Given the description of an element on the screen output the (x, y) to click on. 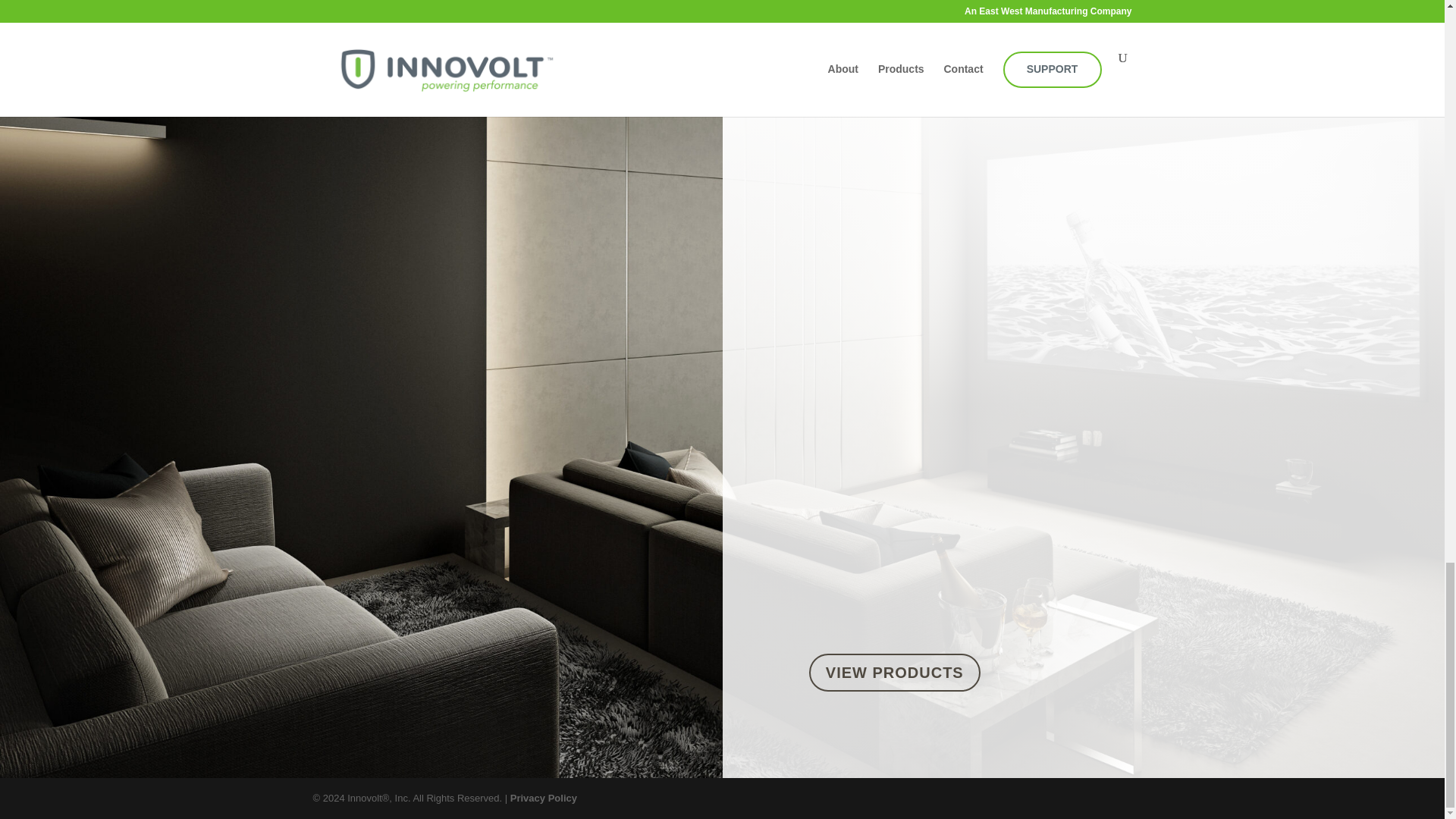
VIEW PRODUCTS (894, 672)
Privacy Policy (543, 797)
